Given the description of an element on the screen output the (x, y) to click on. 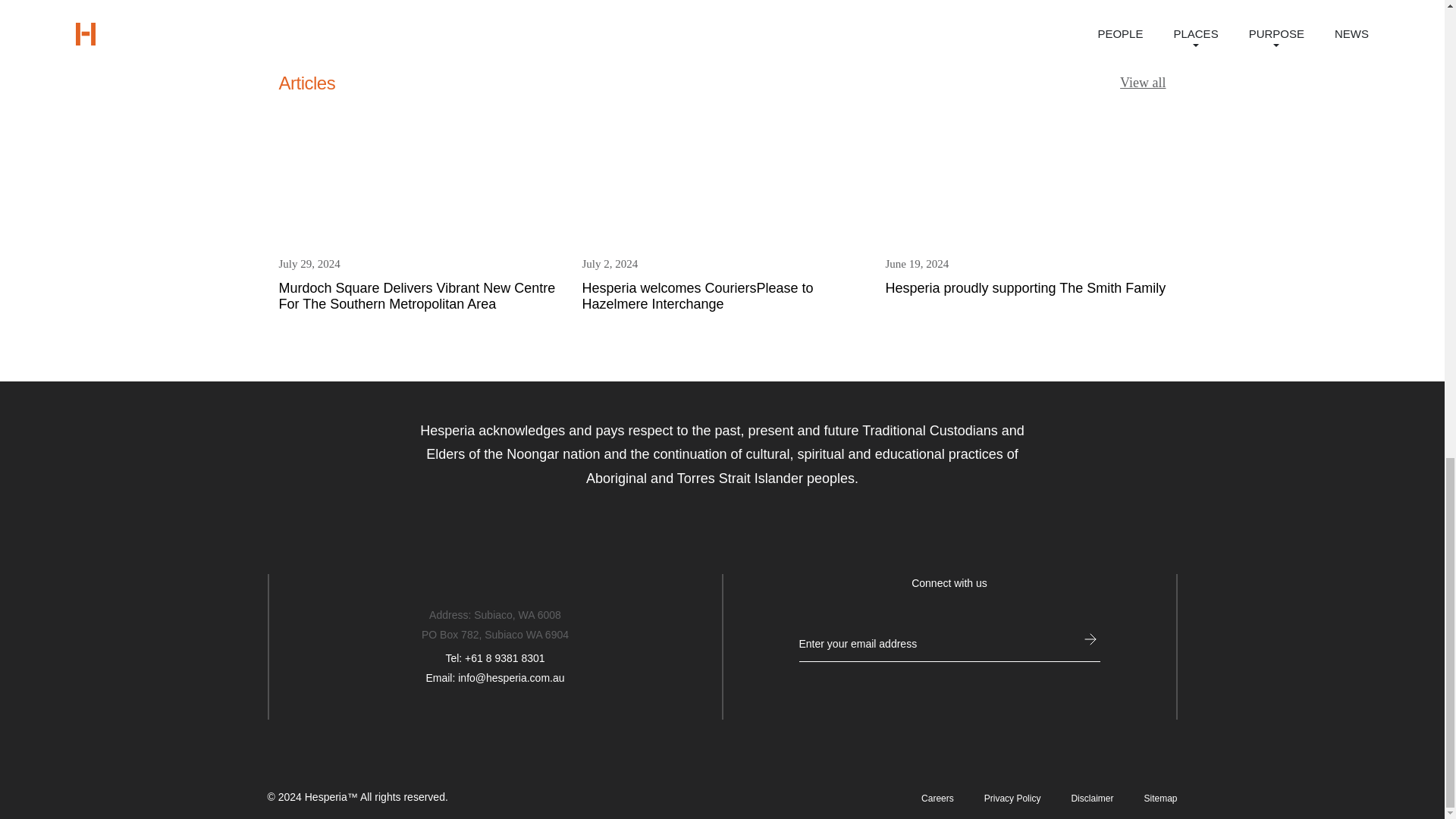
View all (1025, 207)
